Given the description of an element on the screen output the (x, y) to click on. 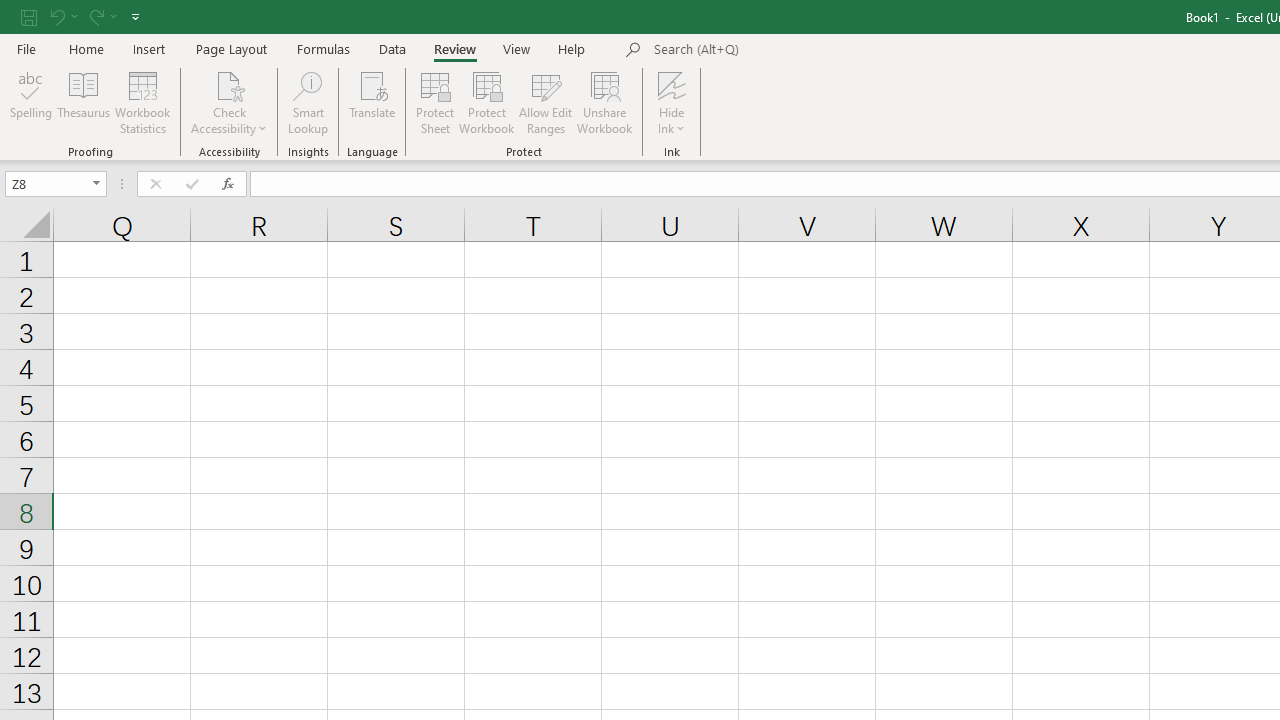
Smart Lookup (308, 102)
Thesaurus... (83, 102)
Workbook Statistics (142, 102)
Translate (372, 102)
Unshare Workbook (604, 102)
Hide Ink (671, 84)
